Given the description of an element on the screen output the (x, y) to click on. 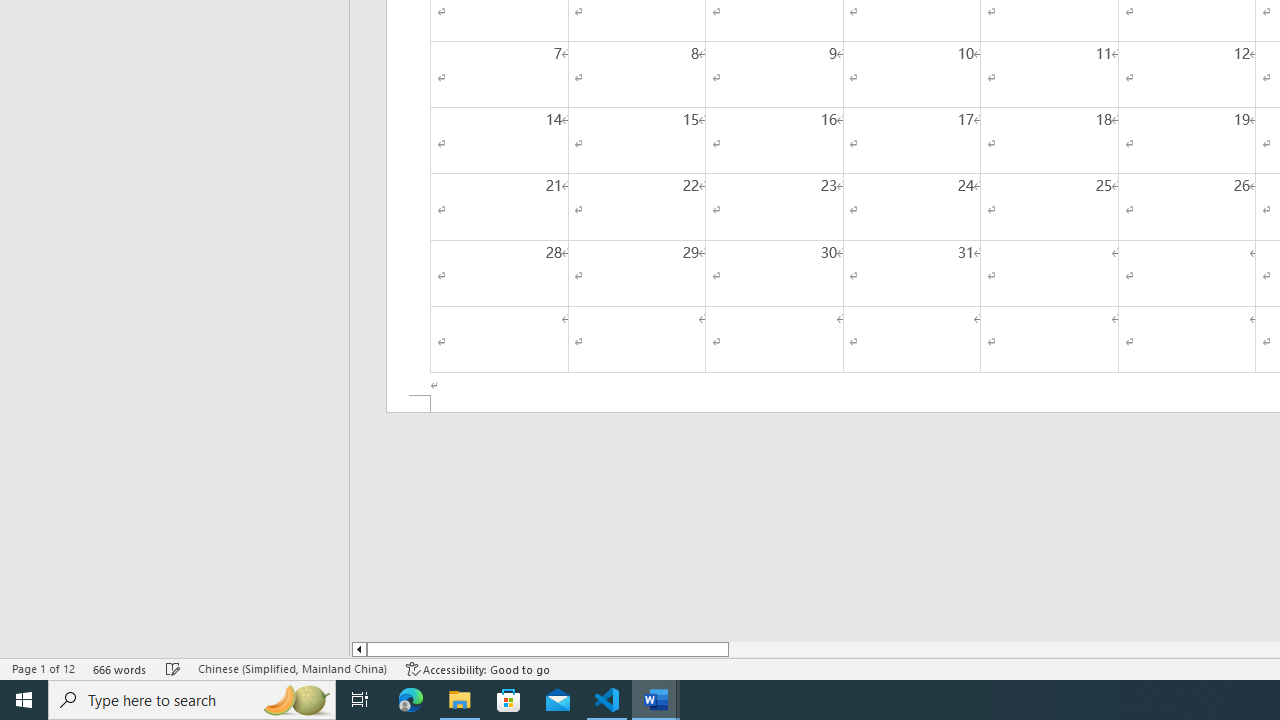
Word Count 666 words (119, 668)
Language Chinese (Simplified, Mainland China) (292, 668)
Spelling and Grammar Check Checking (173, 668)
Column left (358, 649)
Page Number Page 1 of 12 (43, 668)
Accessibility Checker Accessibility: Good to go (478, 668)
